Given the description of an element on the screen output the (x, y) to click on. 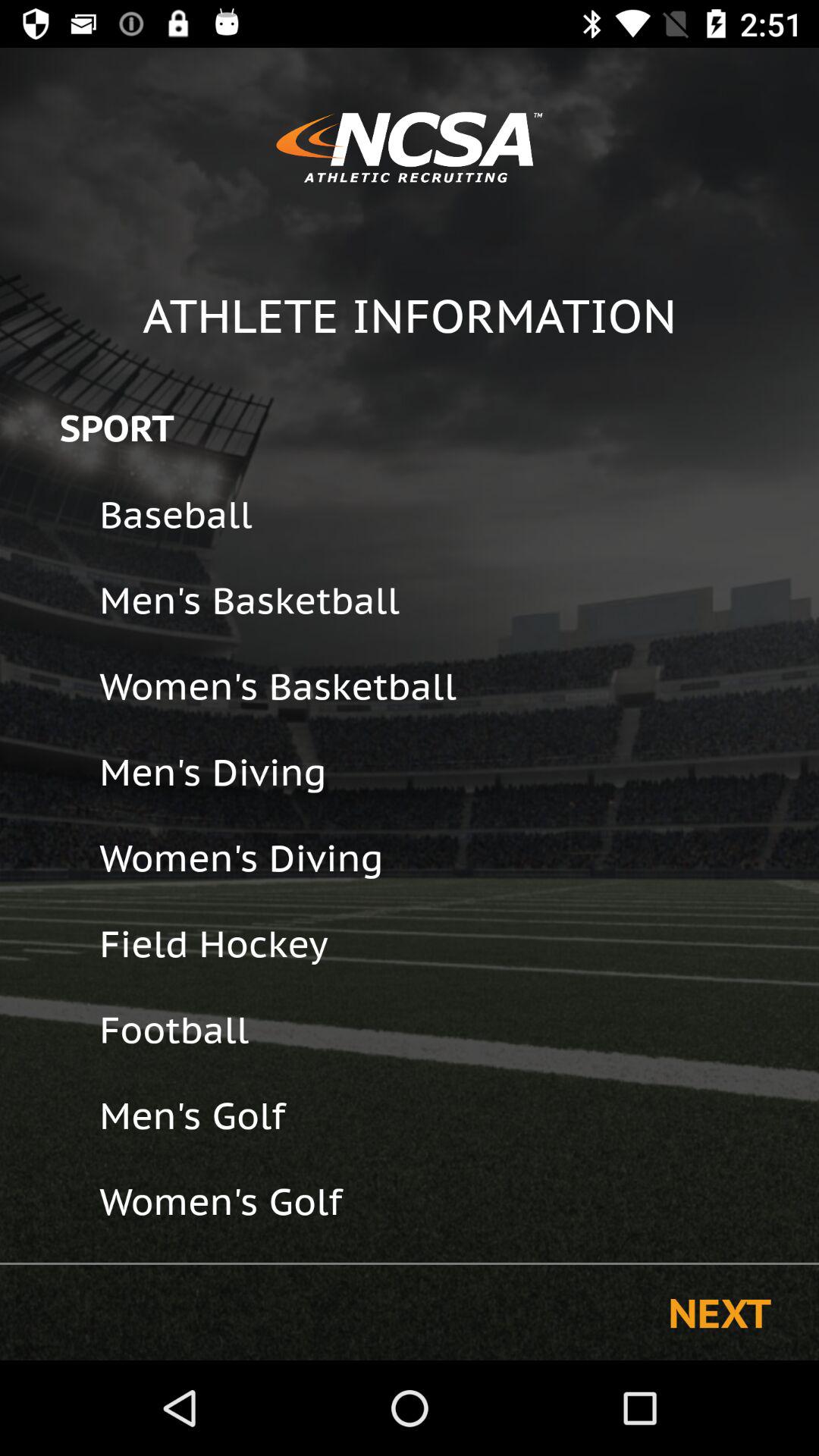
flip to the football item (449, 1029)
